Given the description of an element on the screen output the (x, y) to click on. 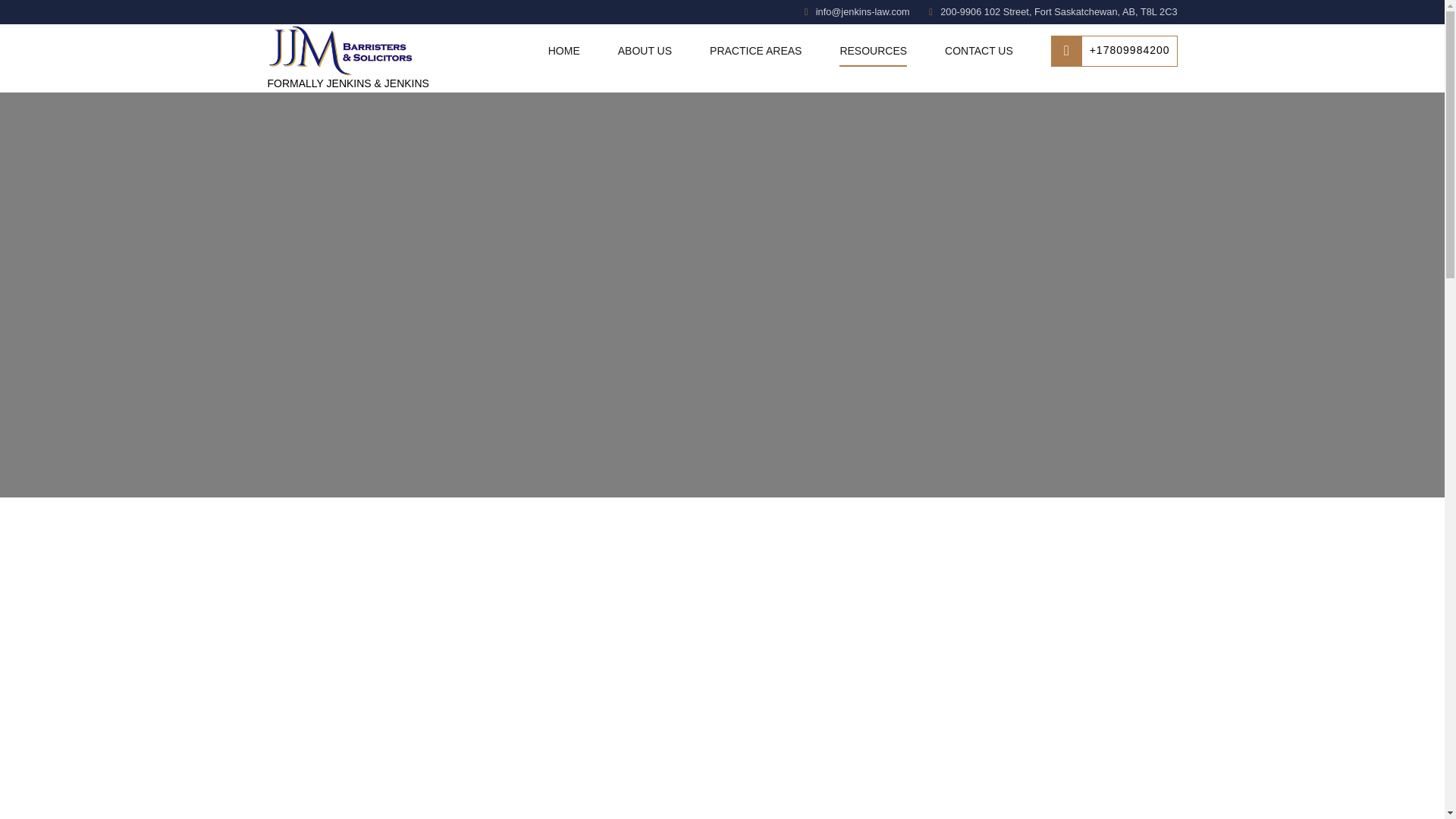
200-9906 102 Street, Fort Saskatchewan, AB, T8L 2C3 (1052, 12)
RESOURCES (873, 50)
PRACTICE AREAS (756, 50)
CONTACT US (978, 50)
ABOUT US (644, 50)
